Given the description of an element on the screen output the (x, y) to click on. 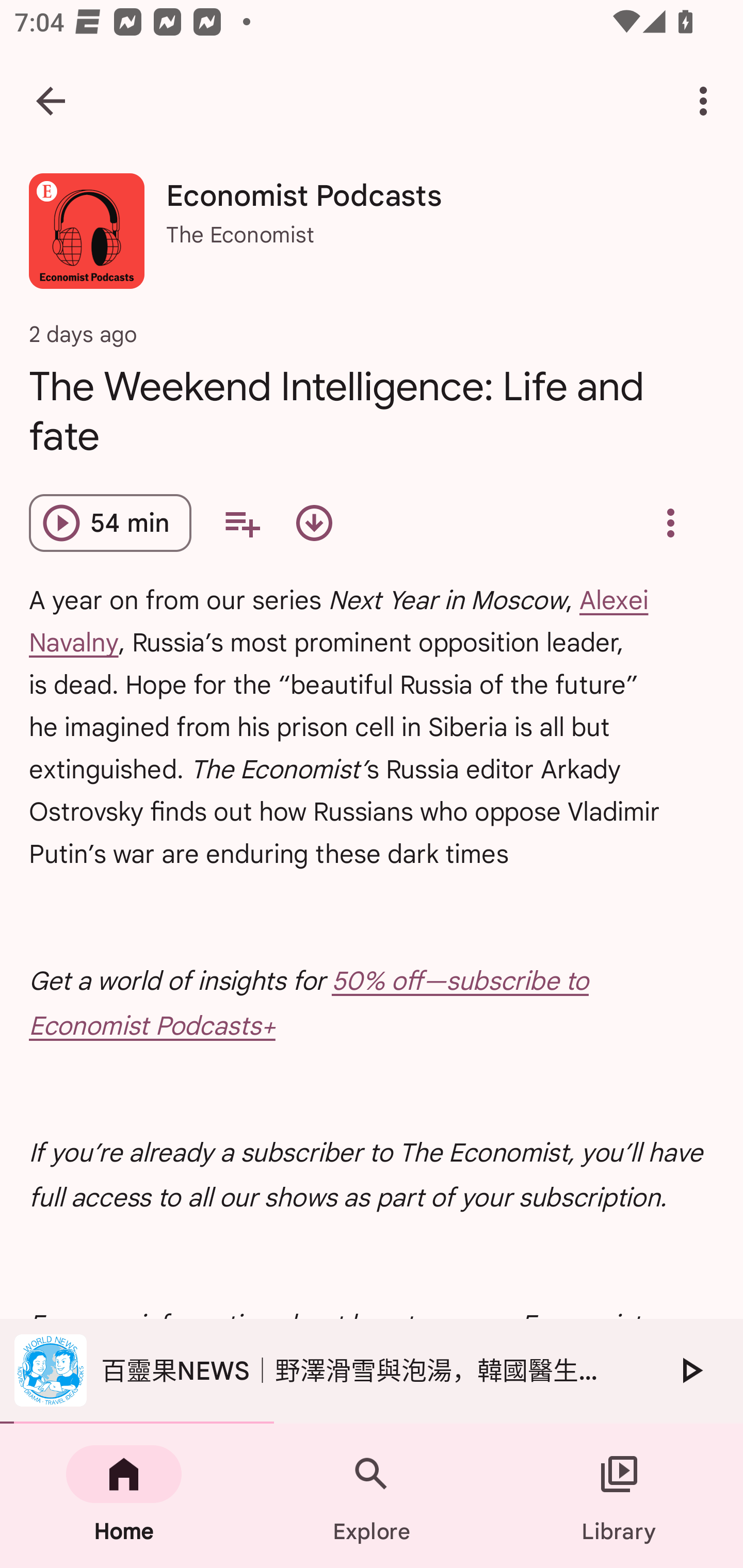
Navigate up (50, 101)
More options (706, 101)
Add to your queue (241, 522)
Download episode (313, 522)
Overflow menu (670, 522)
Play (690, 1370)
Explore (371, 1495)
Library (619, 1495)
